Given the description of an element on the screen output the (x, y) to click on. 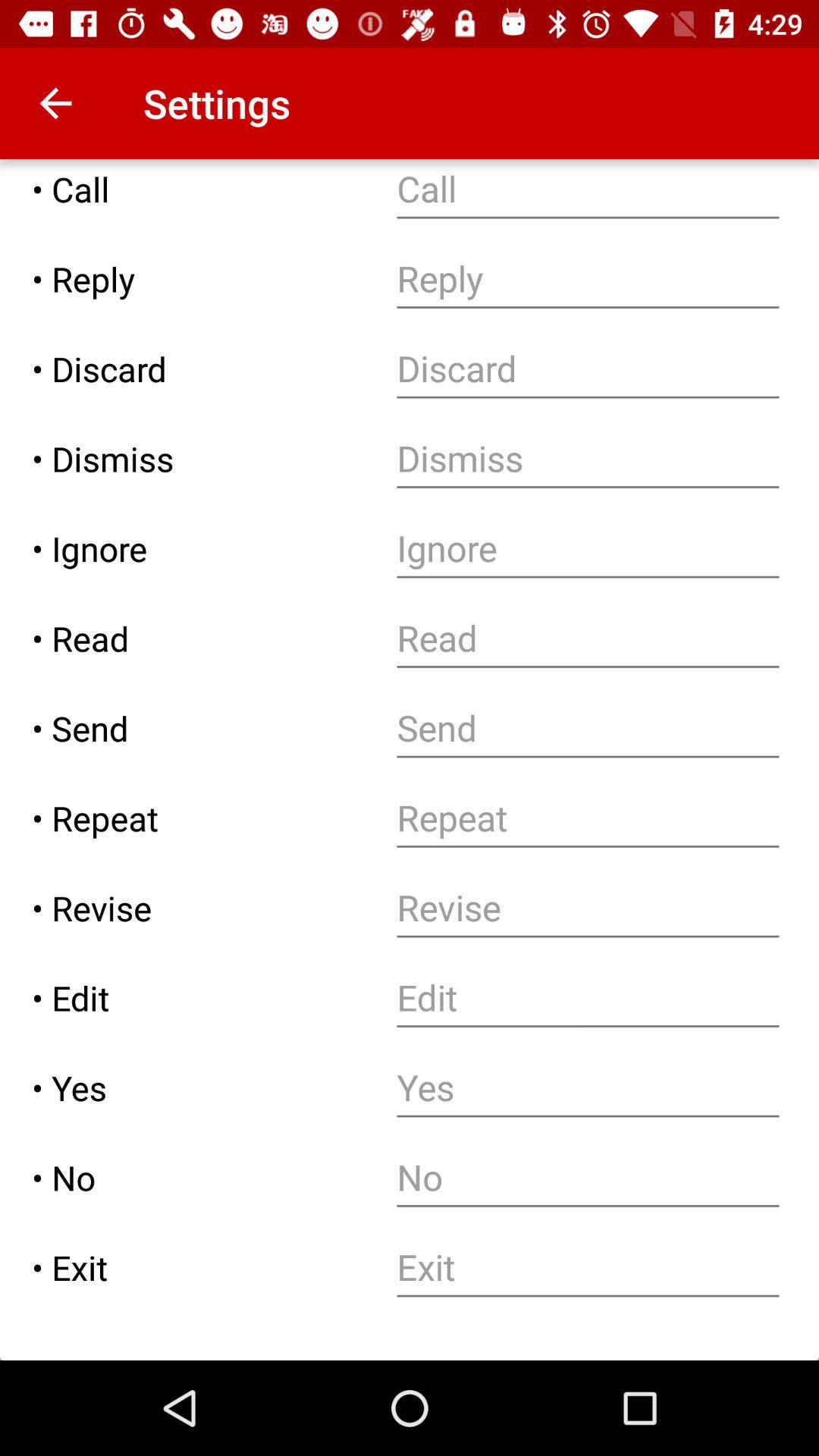
adjust read settings (588, 638)
